Given the description of an element on the screen output the (x, y) to click on. 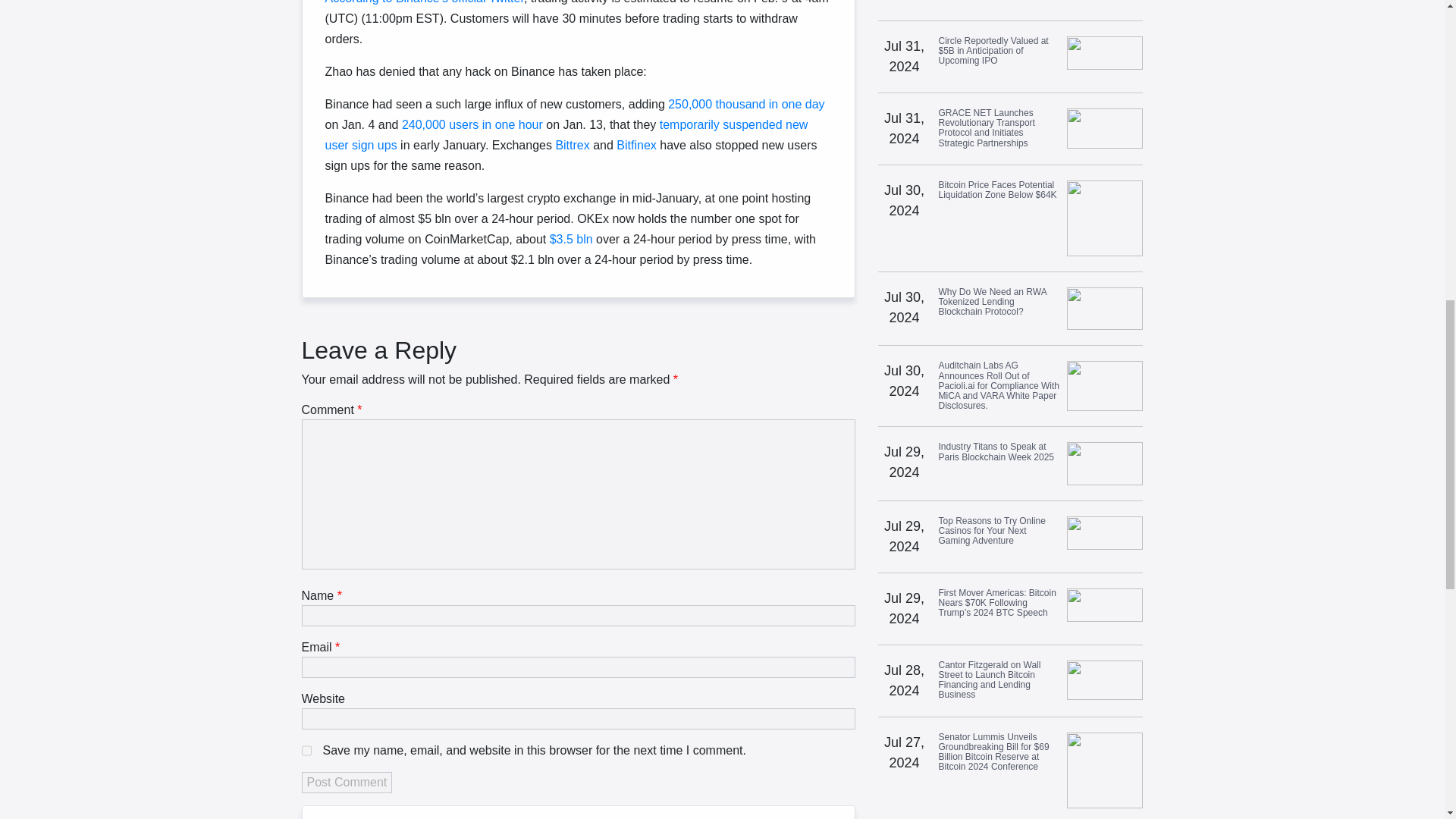
Post Comment (347, 782)
